Given the description of an element on the screen output the (x, y) to click on. 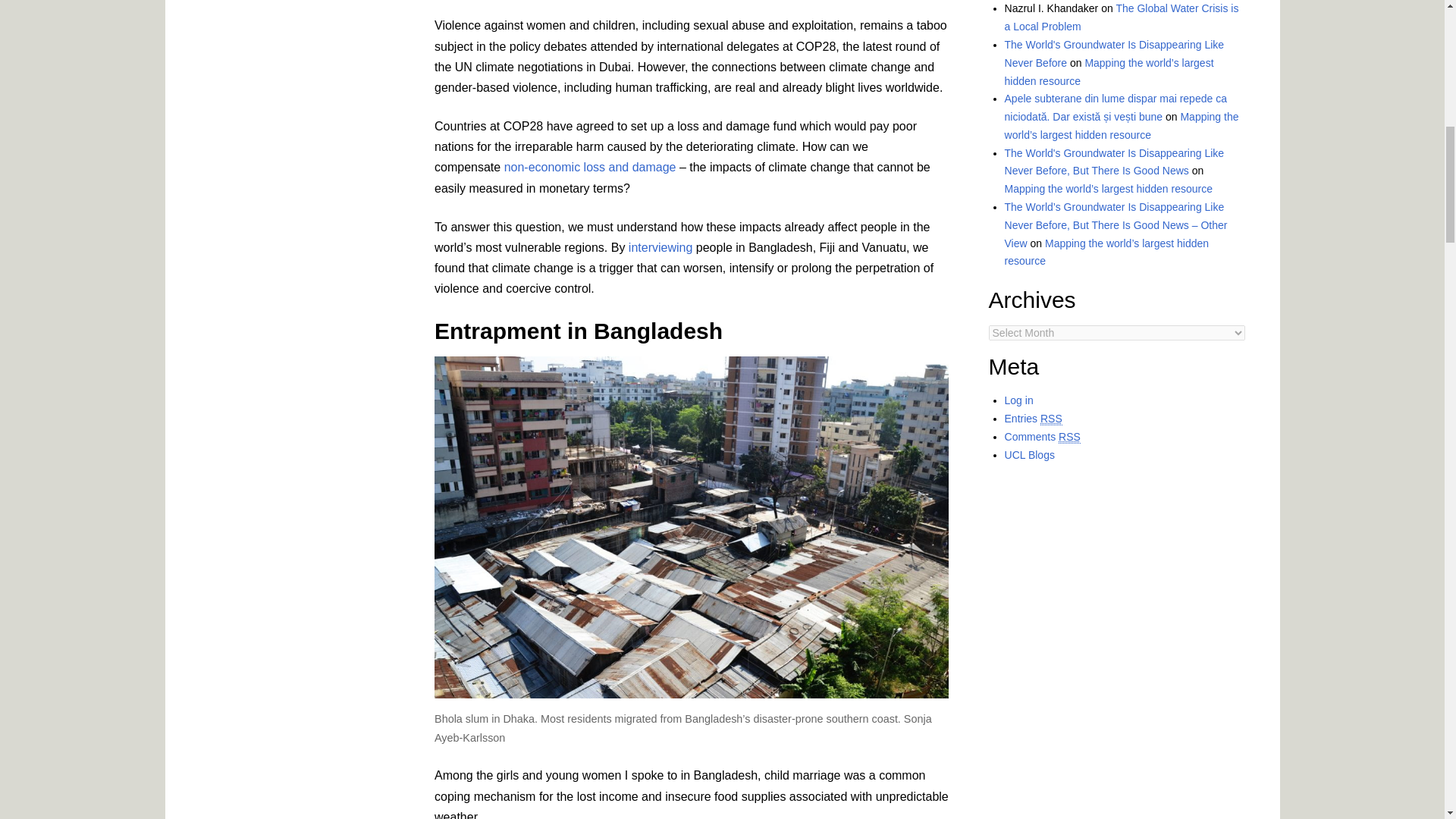
non-economic loss and damage (590, 166)
interviewing (660, 246)
Really Simple Syndication (1069, 436)
Powered by UCL Blogs (1029, 454)
The latest comments to all posts in RSS (1042, 436)
Syndicate this site using RSS 2.0 (1033, 418)
Really Simple Syndication (1051, 418)
